Given the description of an element on the screen output the (x, y) to click on. 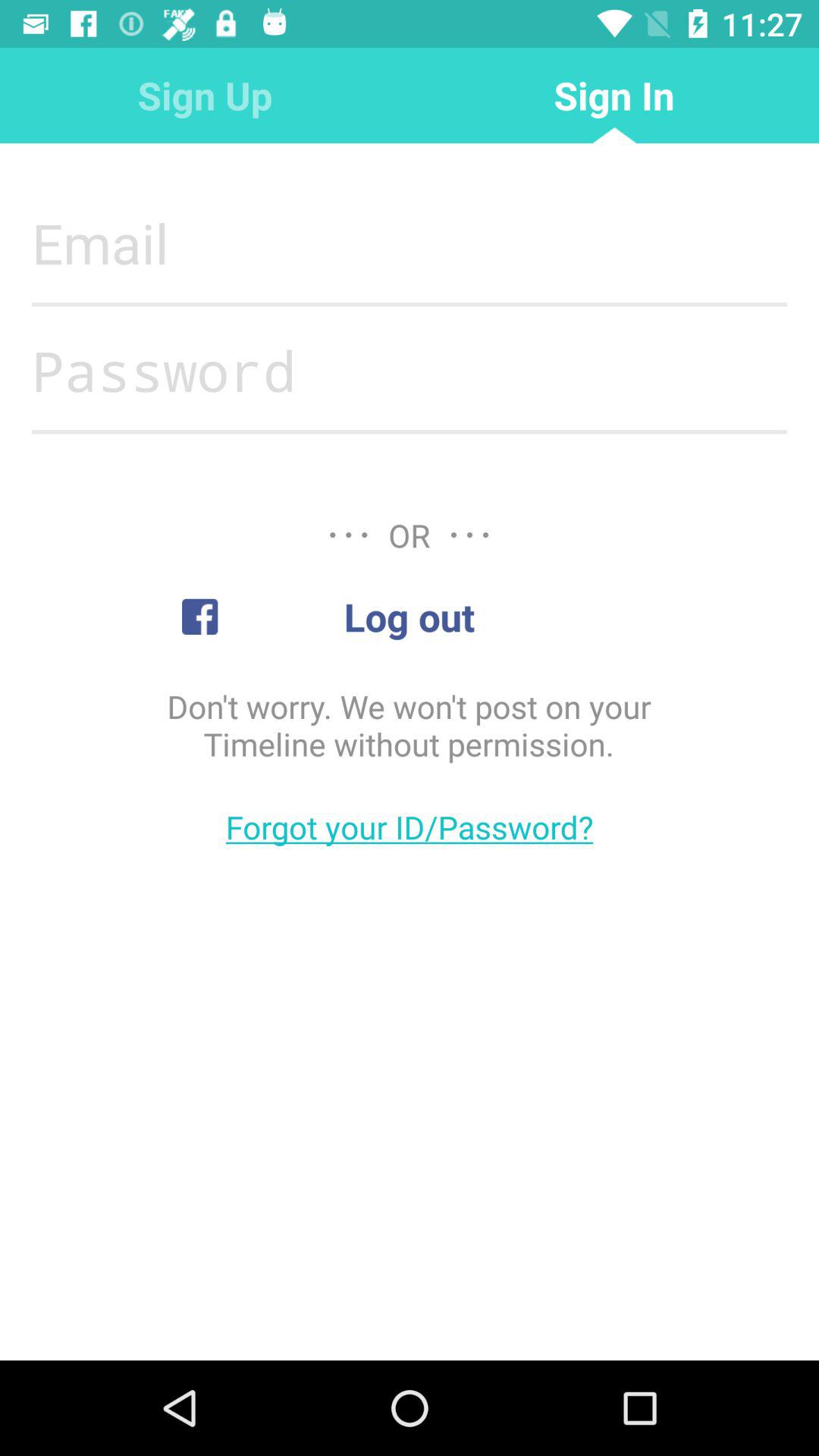
scroll to the log out item (409, 616)
